Given the description of an element on the screen output the (x, y) to click on. 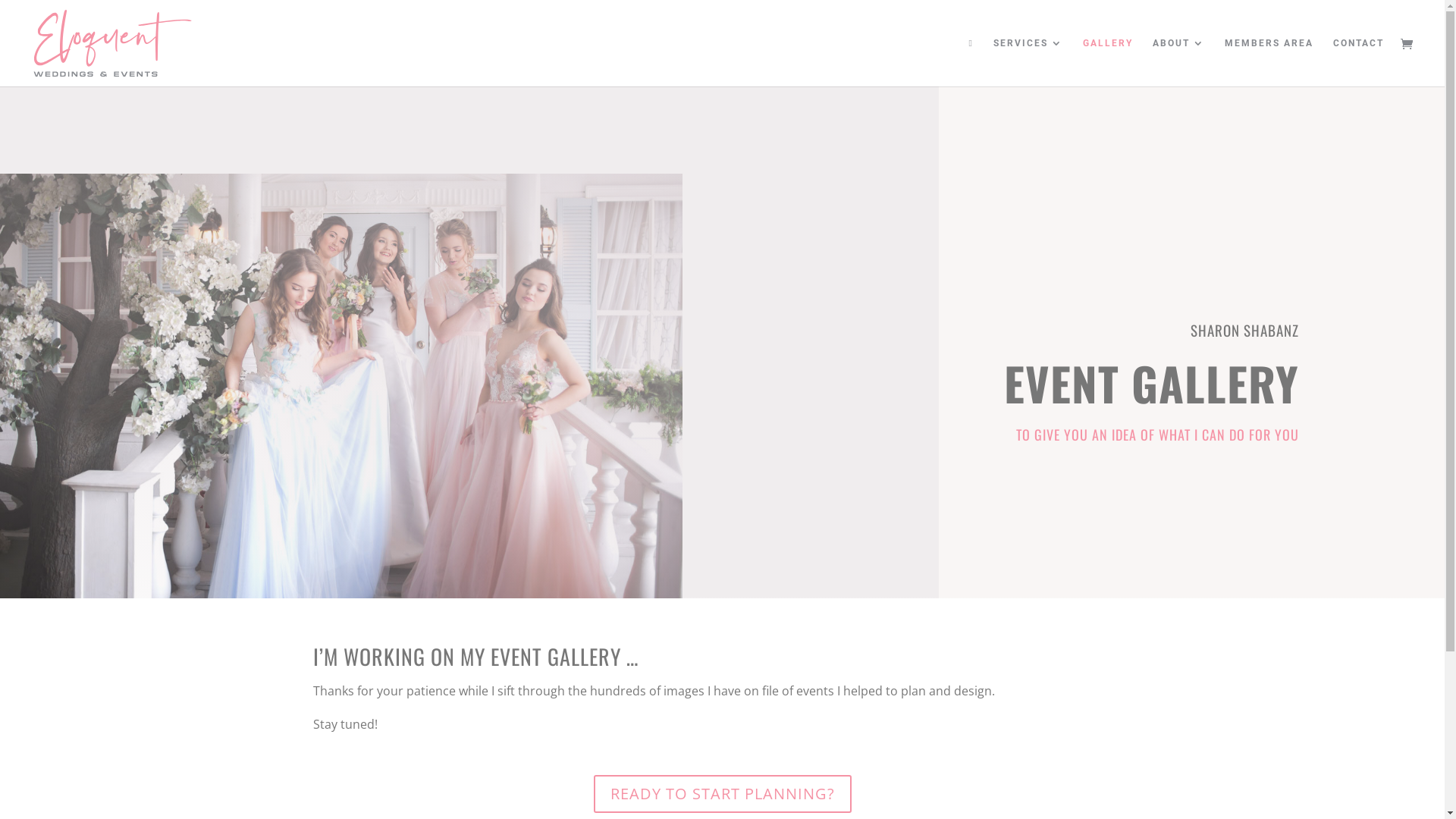
GALLERY Element type: text (1107, 61)
READY TO START PLANNING? Element type: text (721, 793)
CONTACT Element type: text (1358, 61)
SERVICES Element type: text (1028, 61)
MEMBERS AREA Element type: text (1268, 61)
ABOUT Element type: text (1178, 61)
